Given the description of an element on the screen output the (x, y) to click on. 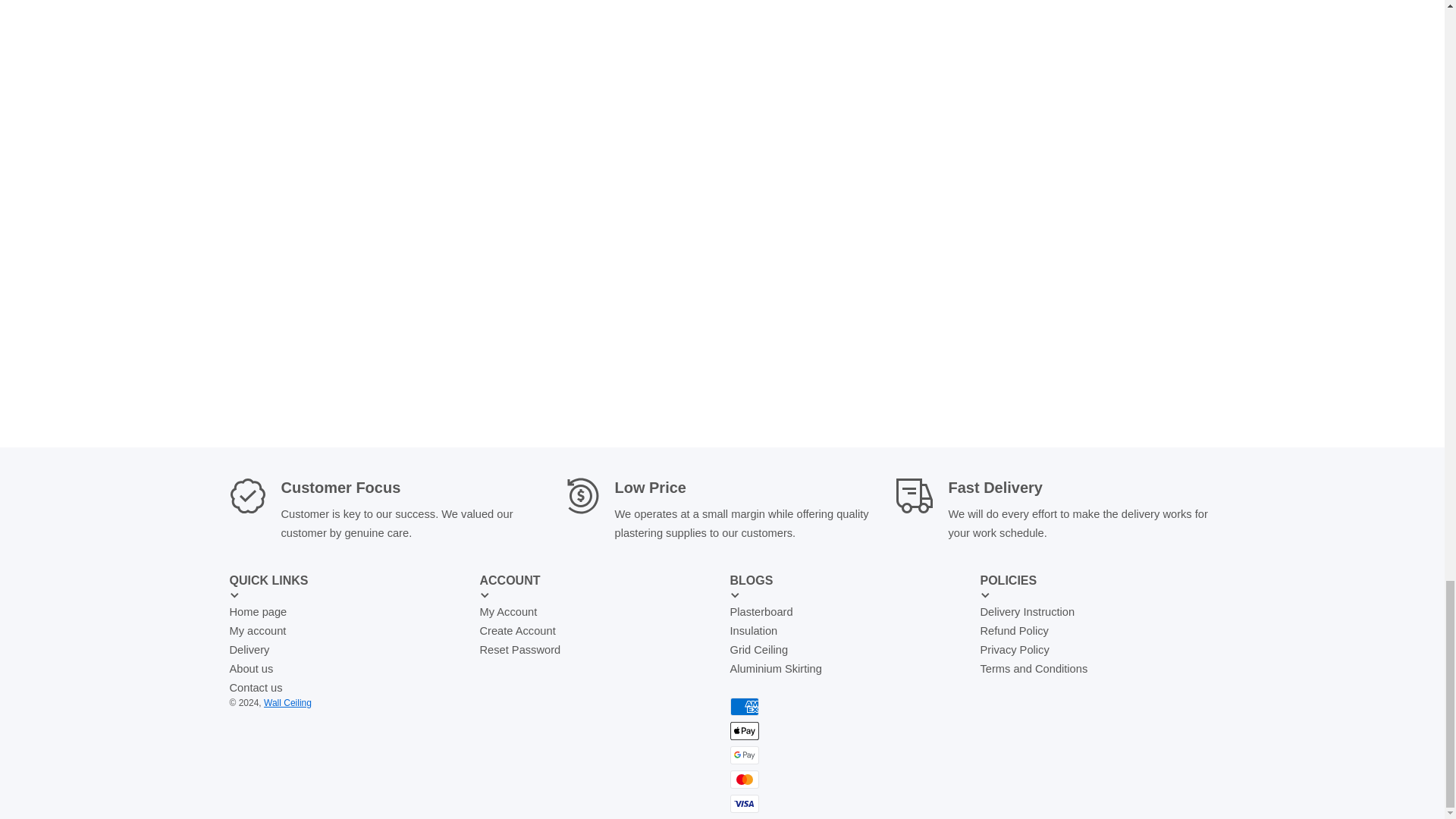
Mastercard (743, 779)
Visa (743, 803)
Google Pay (743, 755)
American Express (743, 706)
Apple Pay (743, 730)
